Given the description of an element on the screen output the (x, y) to click on. 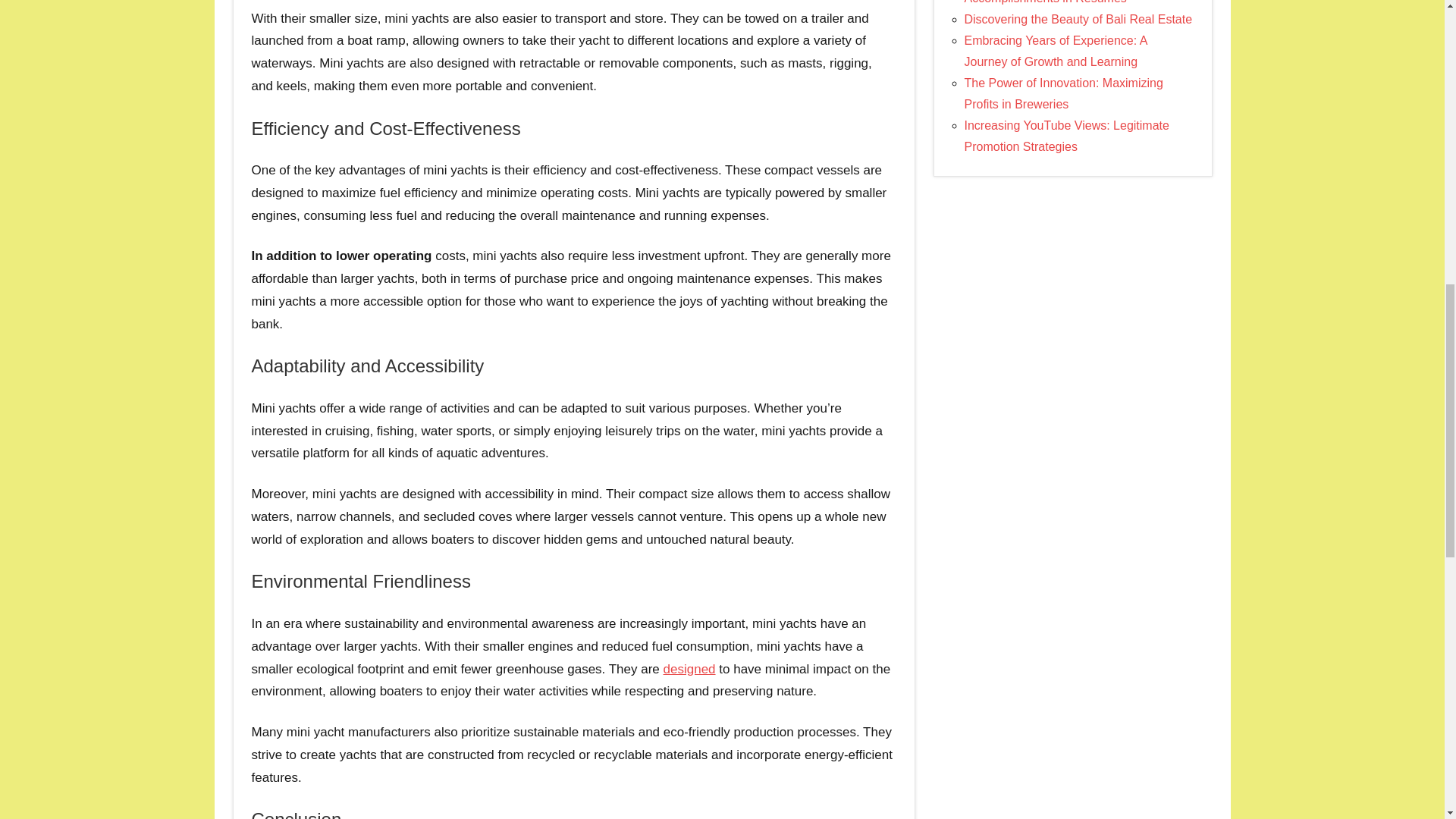
Discovering the Beauty of Bali Real Estate (1077, 19)
designed (689, 668)
Increasing YouTube Views: Legitimate Promotion Strategies (1066, 135)
The Power of Innovation: Maximizing Profits in Breweries (1063, 93)
Unveiling the Power of Personal Accomplishments in Resumes (1050, 2)
